Given the description of an element on the screen output the (x, y) to click on. 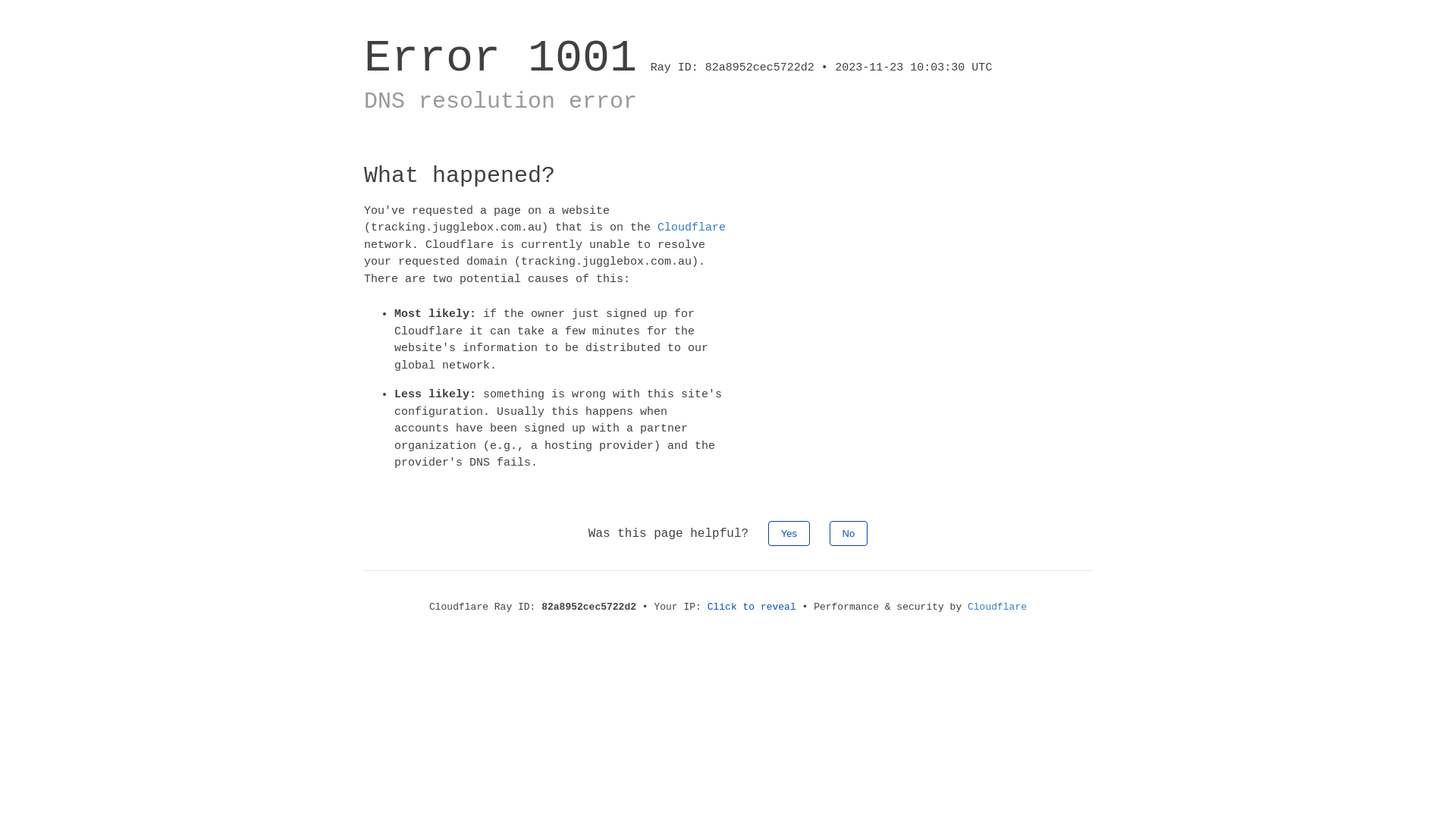
Cloudflare Element type: text (996, 605)
No Element type: text (848, 532)
Yes Element type: text (788, 532)
Cloudflare Element type: text (691, 227)
Click to reveal Element type: text (751, 605)
